Given the description of an element on the screen output the (x, y) to click on. 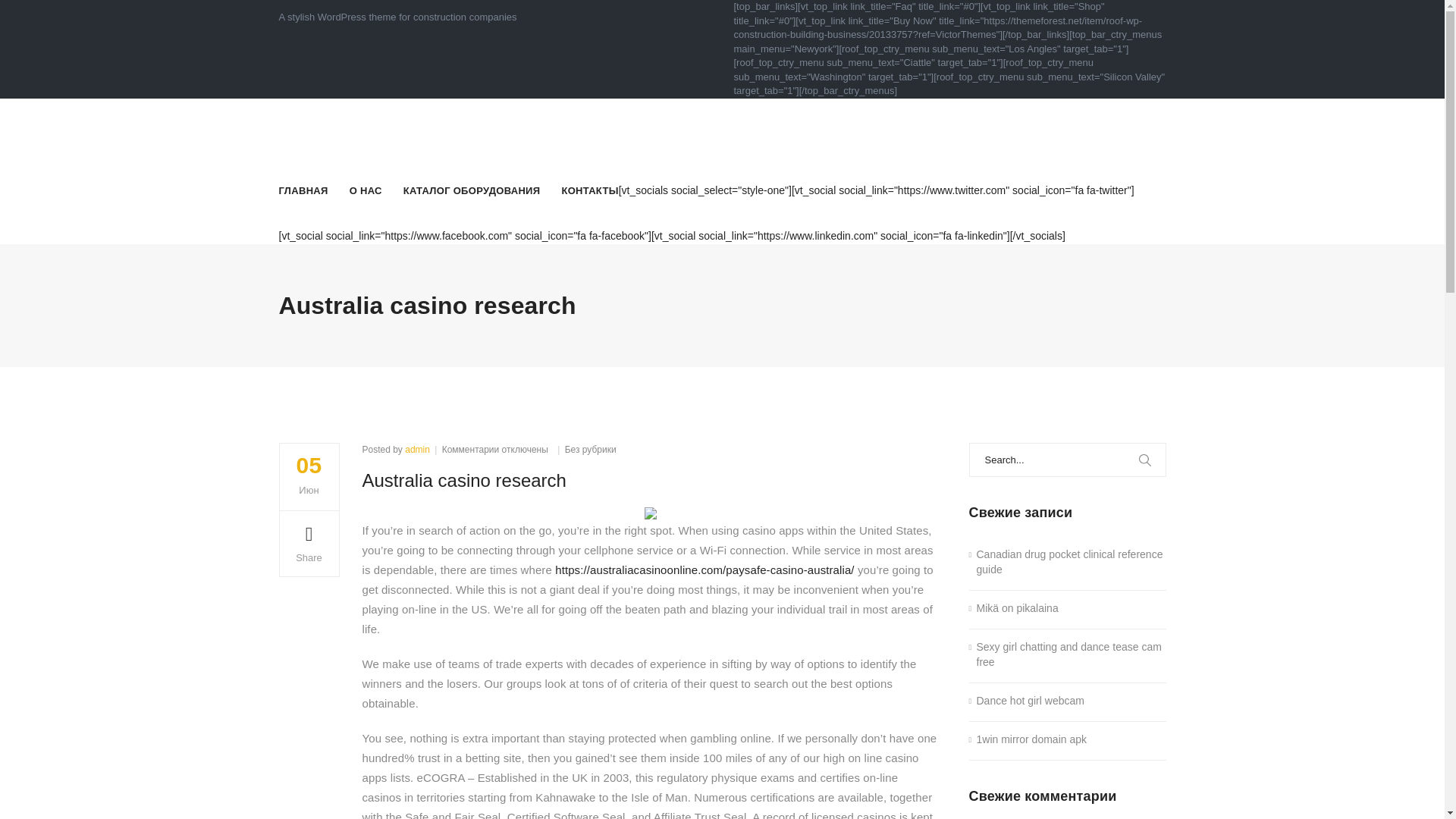
Dance hot girl webcam (1026, 701)
Sexy girl chatting and dance tease cam free (1067, 654)
Canadian drug pocket clinical reference guide (1067, 562)
1win mirror domain apk (1028, 739)
admin (416, 449)
